Given the description of an element on the screen output the (x, y) to click on. 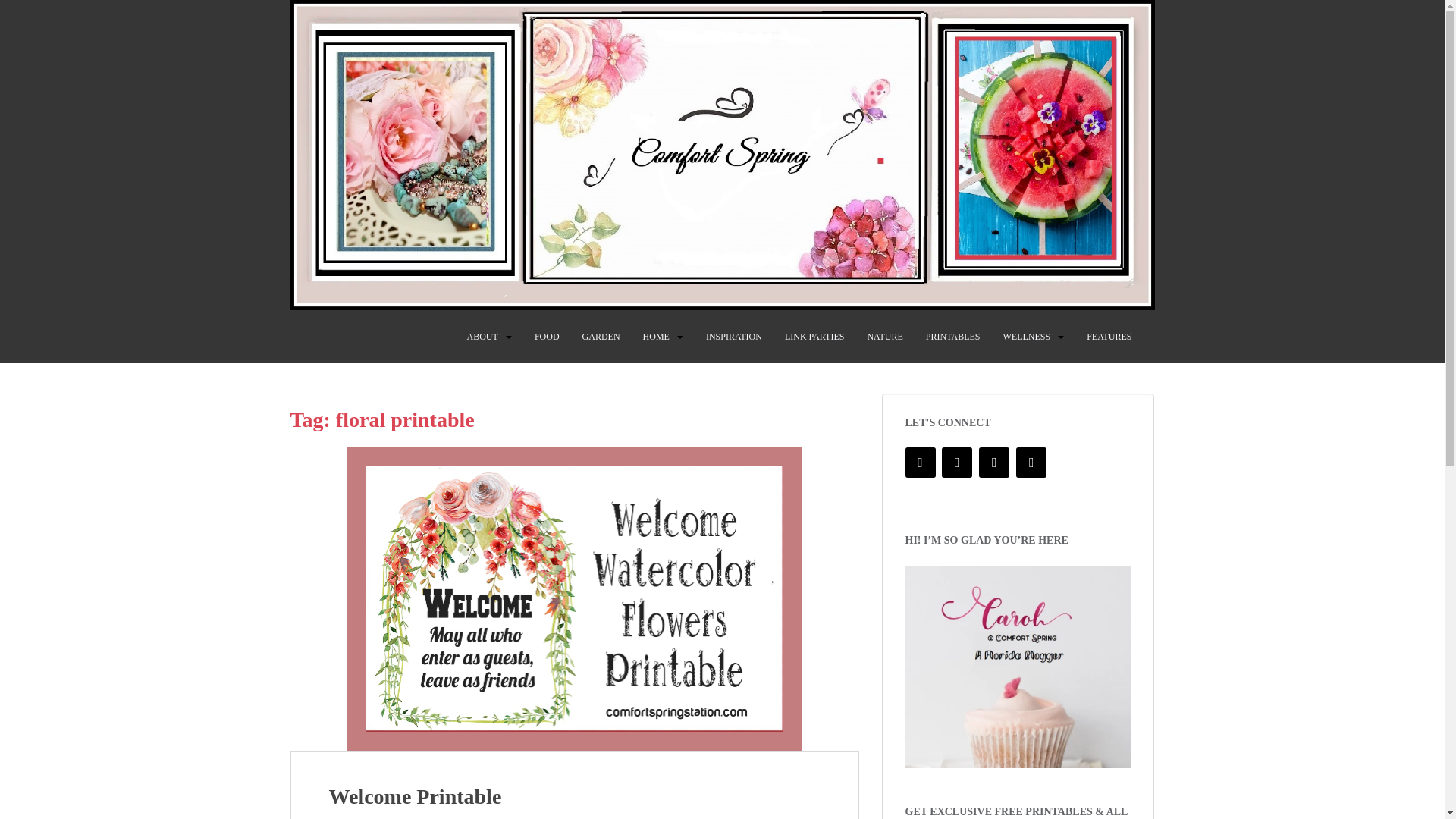
NATURE (884, 336)
Welcome Printable (415, 796)
WELLNESS (1026, 336)
ABOUT (482, 336)
PRINTABLES (952, 336)
Carol (1018, 667)
INSPIRATION (733, 336)
FEATURES (1108, 336)
LINK PARTIES (814, 336)
GARDEN (601, 336)
